Given the description of an element on the screen output the (x, y) to click on. 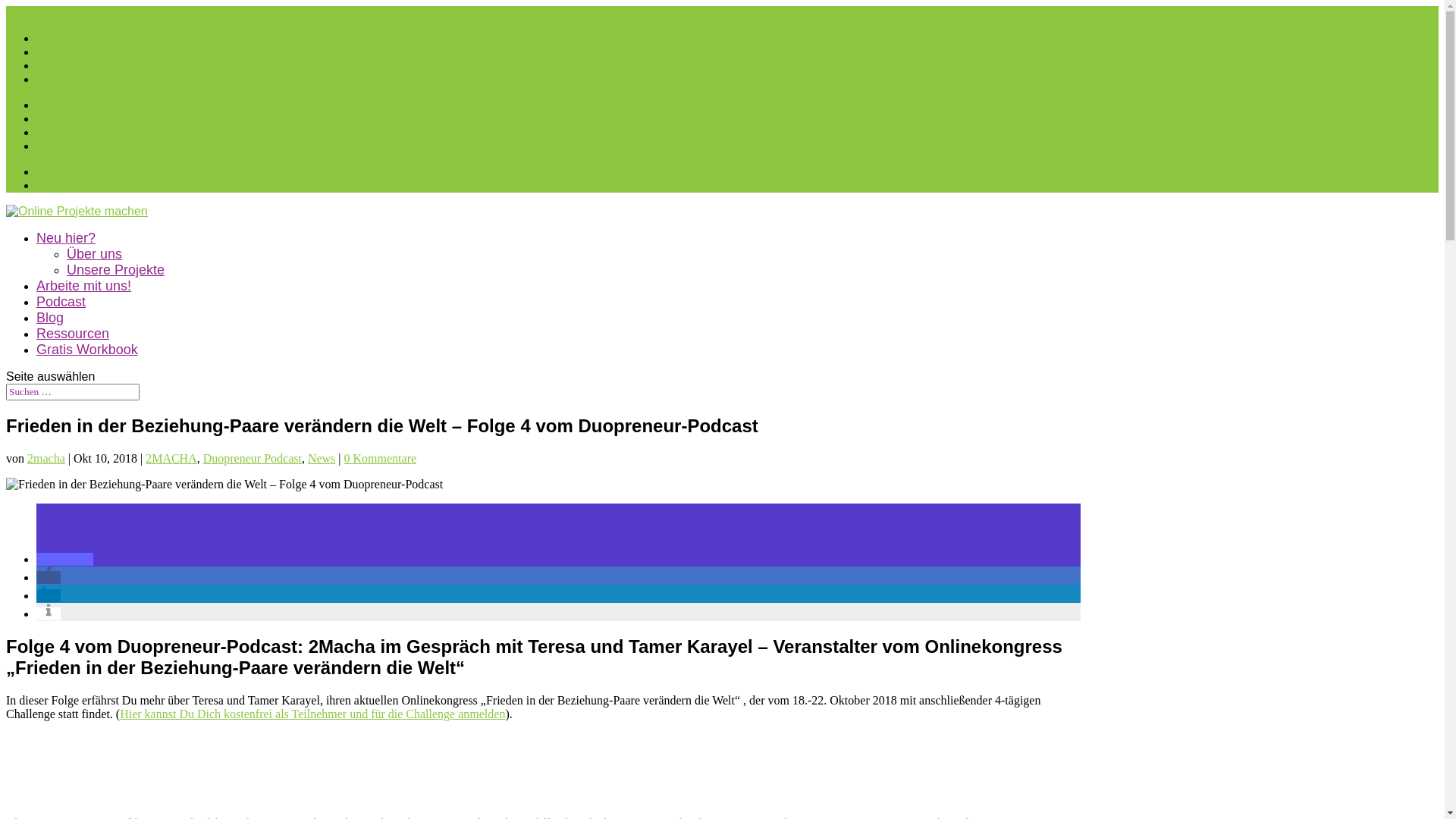
Blog Element type: text (49, 317)
Twitter Element type: text (53, 118)
Podcast Element type: text (60, 301)
Twitter Element type: text (53, 51)
info@2macha.com Element type: text (52, 12)
Bei LinkedIn teilen Element type: hover (48, 595)
Kontakt Element type: text (55, 184)
Gratis Workbook Element type: text (87, 349)
Unsere Projekte Element type: text (115, 269)
Neu hier? Element type: text (65, 237)
Google Element type: text (54, 131)
Weitere Informationen Element type: hover (48, 613)
2macha Element type: text (46, 457)
Arbeite mit uns! Element type: text (83, 285)
Facebook Element type: text (59, 37)
Facebook Element type: text (59, 104)
Ressourcen Element type: text (72, 333)
Duopreneur Podcast Element type: text (252, 457)
Bei Mastodon teilen Element type: hover (64, 558)
Google Element type: text (54, 65)
RSS Element type: text (46, 145)
2MACHA Element type: text (171, 457)
Suchen nach: Element type: hover (72, 391)
RSS Element type: text (46, 78)
0 Kommentare Element type: text (380, 457)
Facebook Community Element type: text (90, 171)
News Element type: text (321, 457)
Bei Facebook teilen Element type: hover (48, 577)
